Given the description of an element on the screen output the (x, y) to click on. 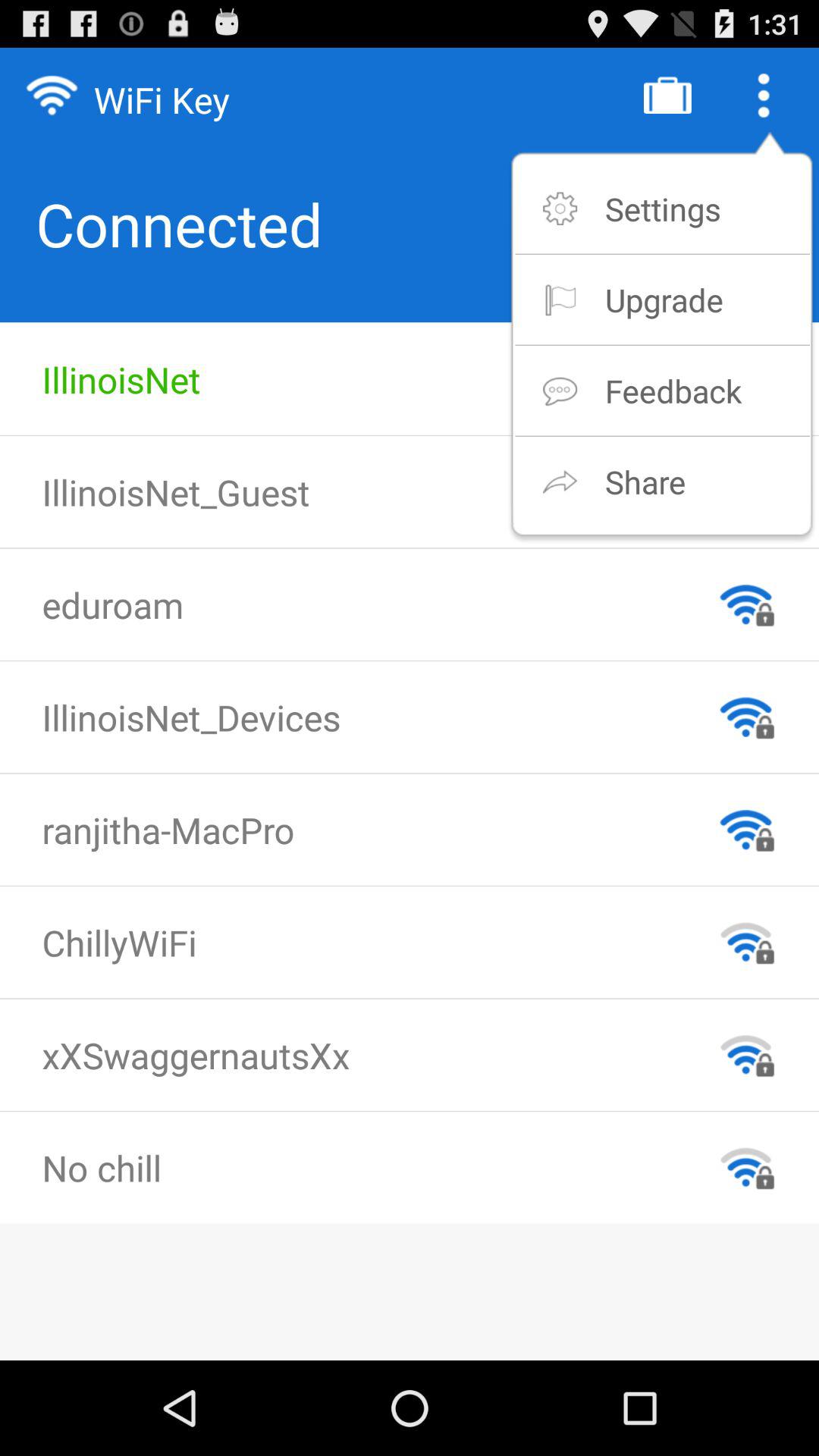
turn on the icon below feedback (645, 481)
